Given the description of an element on the screen output the (x, y) to click on. 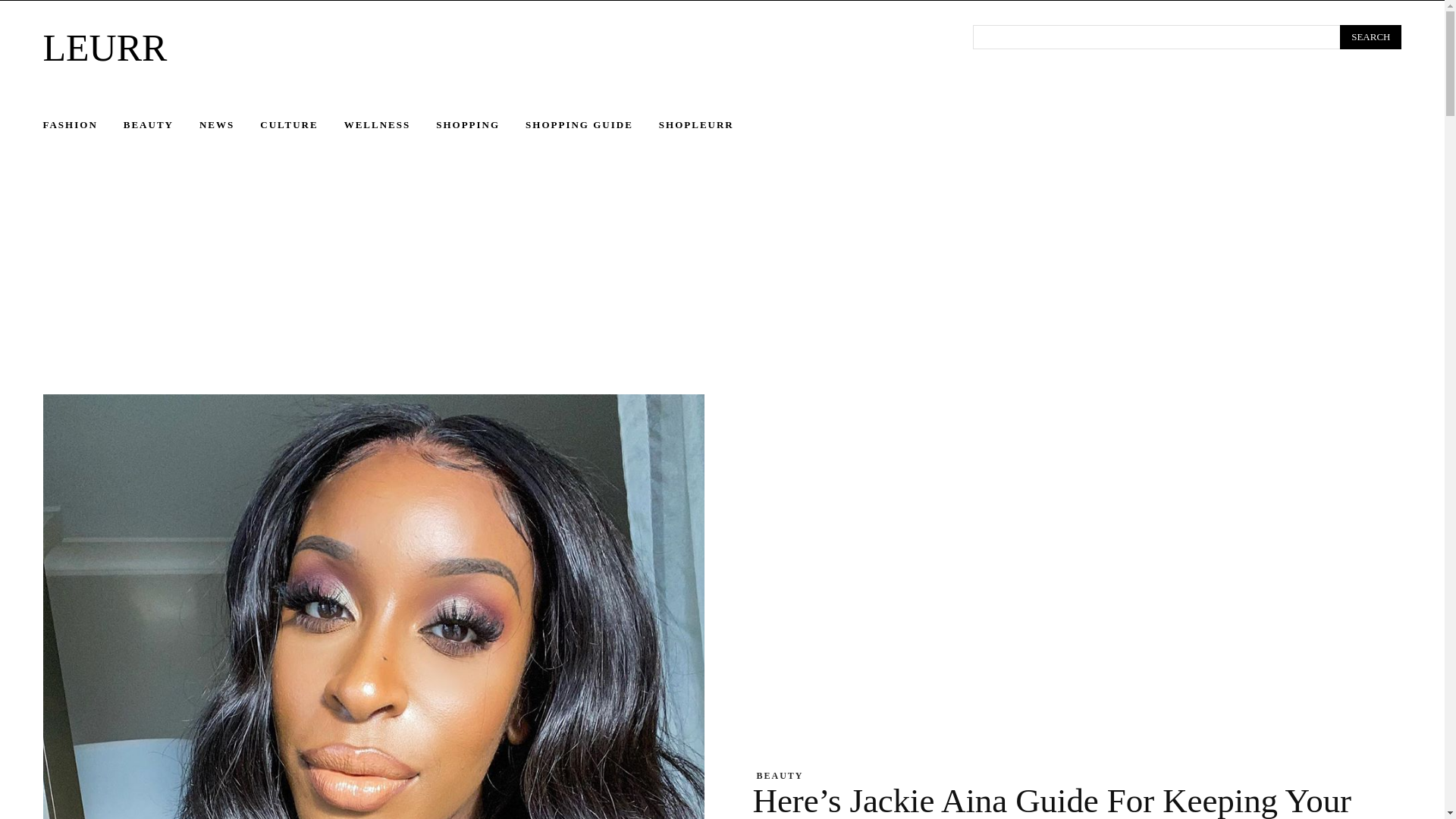
WELLNESS (389, 125)
NEWS (229, 125)
CULTURE (301, 125)
SHOPPING GUIDE (592, 125)
SHOPPING (480, 125)
SEARCH (1369, 37)
FASHION (82, 125)
BEAUTY (161, 125)
BEAUTY (780, 775)
SHOPLEURR (709, 125)
LEURR (489, 47)
